Given the description of an element on the screen output the (x, y) to click on. 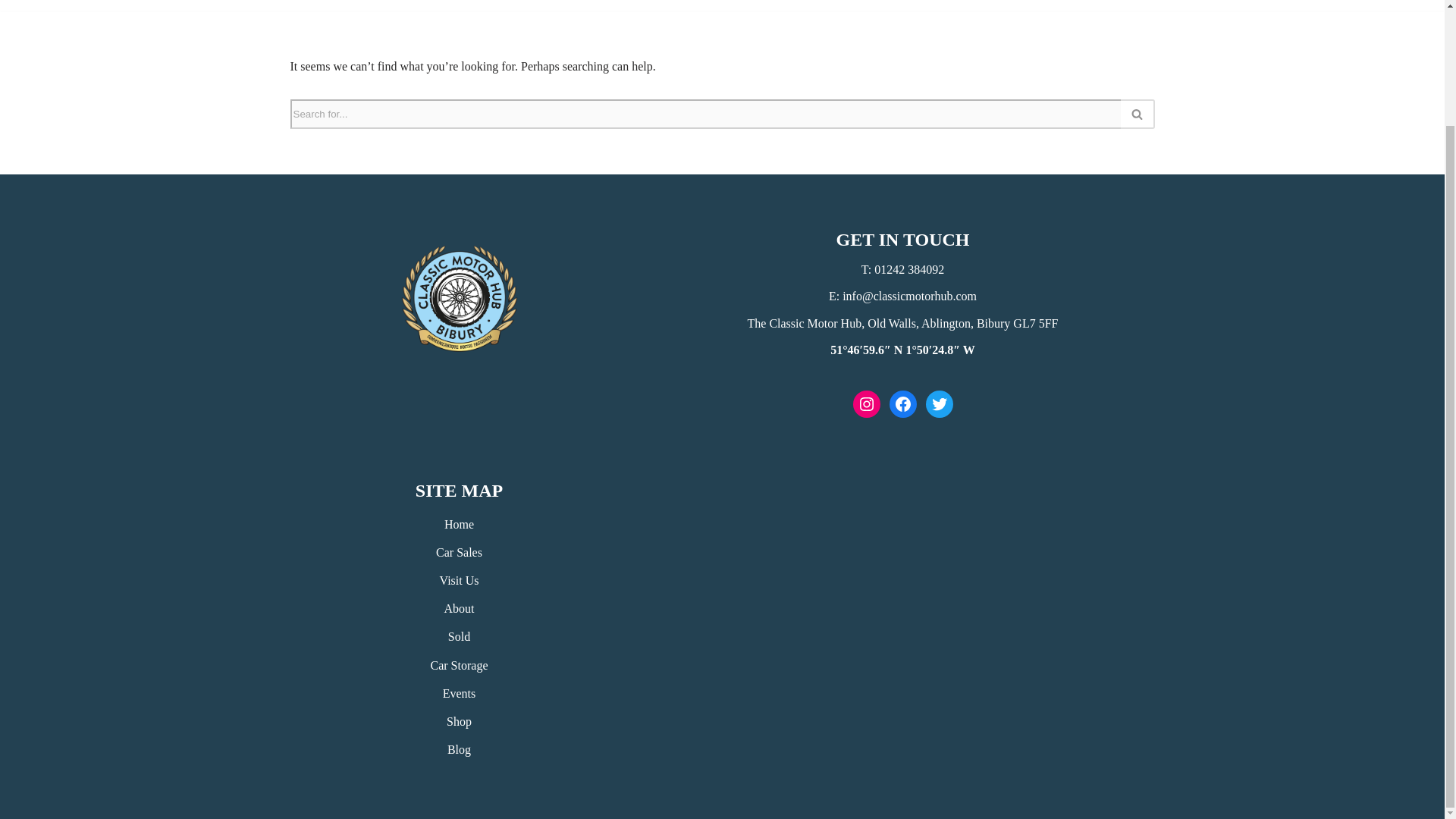
01242 384092 (909, 269)
EVENTS (699, 2)
About (459, 608)
SHOP (946, 2)
Car Storage (458, 665)
BLOG (999, 2)
Home (459, 523)
VISIT US (768, 2)
SOLD (893, 2)
Sold (459, 635)
CAR SALES (517, 2)
CAR STORAGE (613, 2)
Events (459, 693)
Visit Us (459, 580)
ABOUT (836, 2)
